Given the description of an element on the screen output the (x, y) to click on. 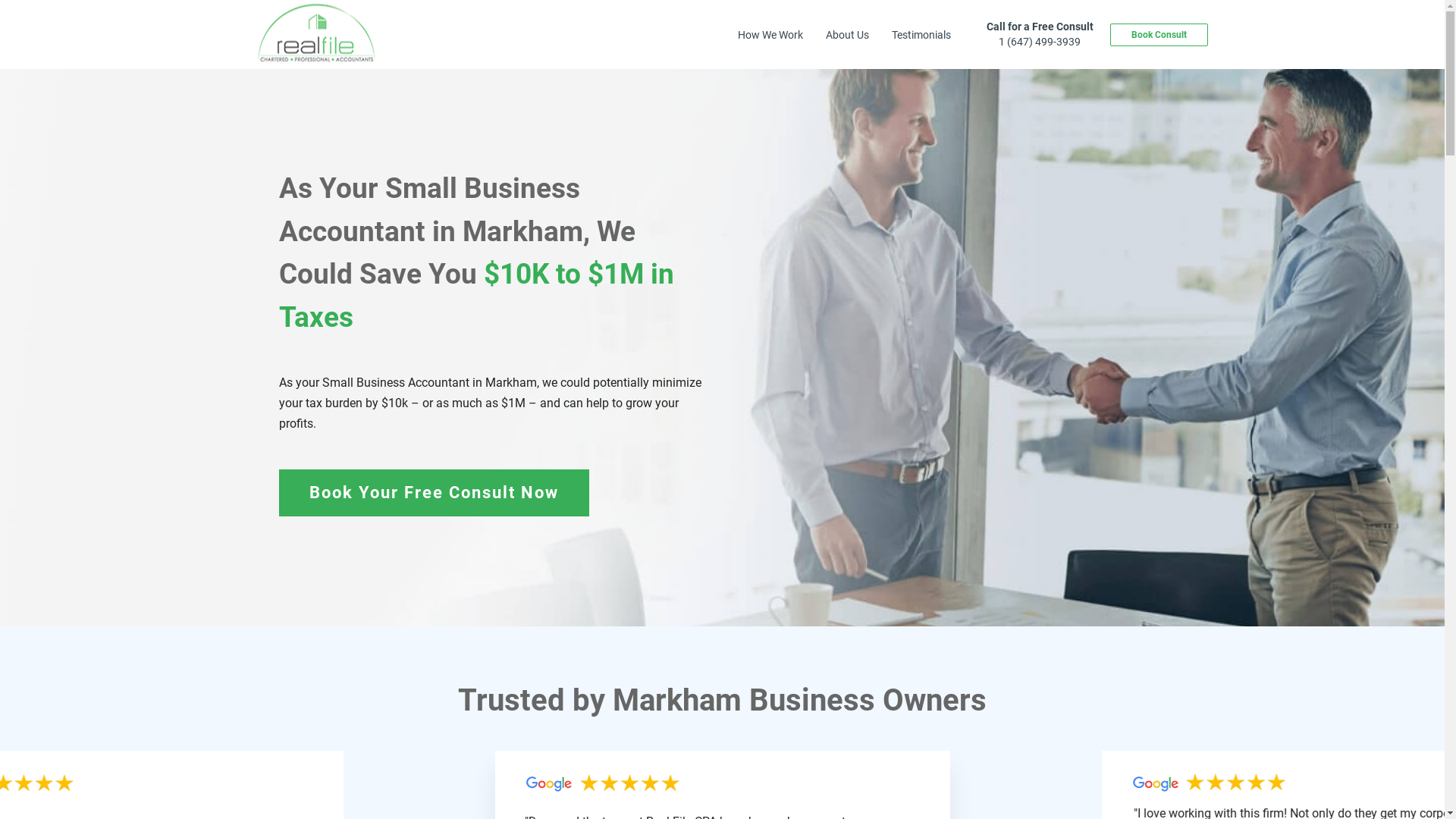
Book Your Free Consult Now Element type: text (434, 492)
How We Work Element type: text (770, 34)
1 (647) 499-3939 Element type: text (1039, 41)
About Us Element type: text (847, 34)
Small Business Accountant in Markham Element type: text (428, 382)
Testimonials Element type: text (920, 34)
Book Consult Element type: text (1159, 34)
